Given the description of an element on the screen output the (x, y) to click on. 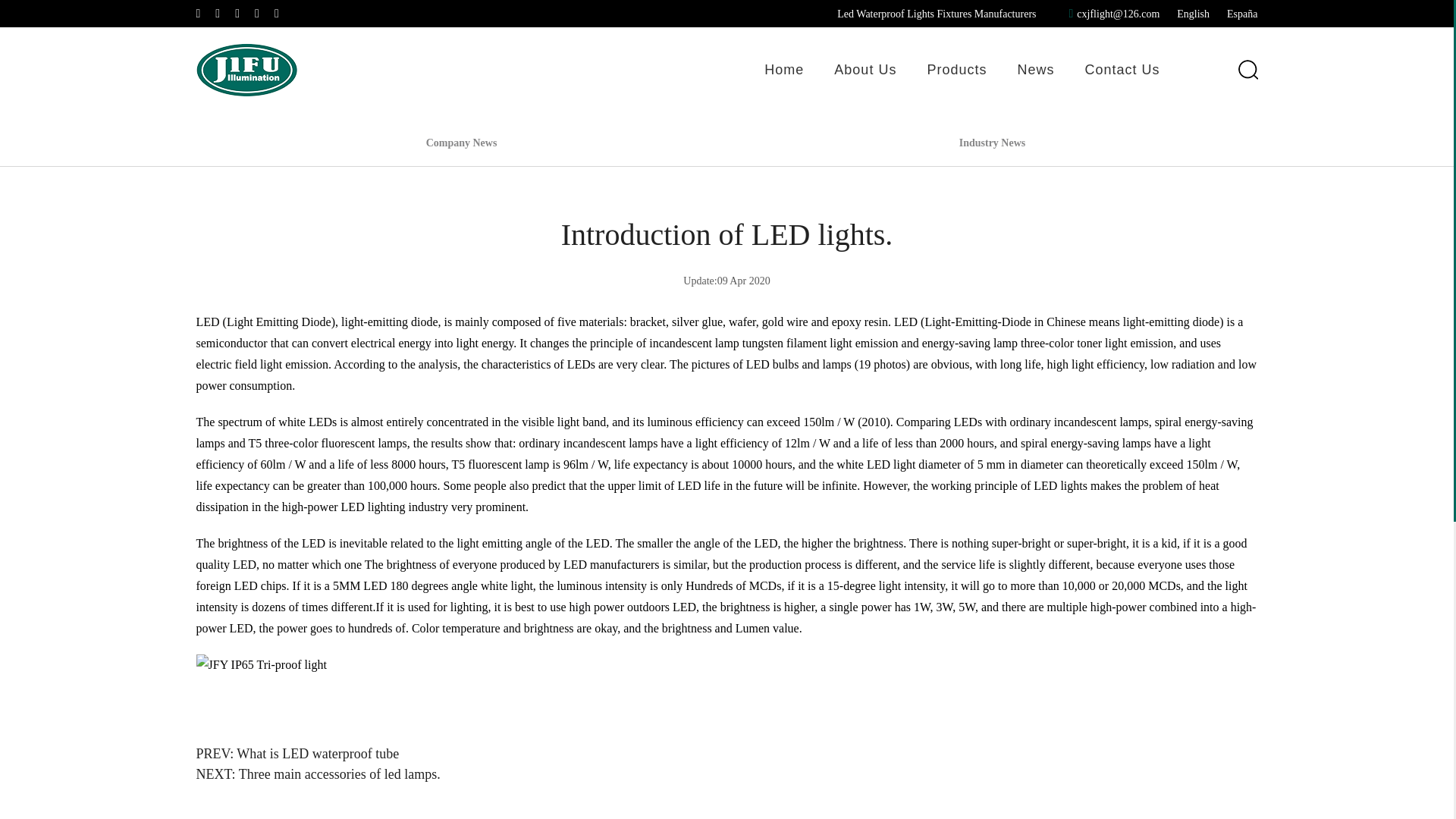
English (1192, 13)
Contact Us (1121, 69)
Led Waterproof Lights Fixtures Manufacturers (936, 13)
